Given the description of an element on the screen output the (x, y) to click on. 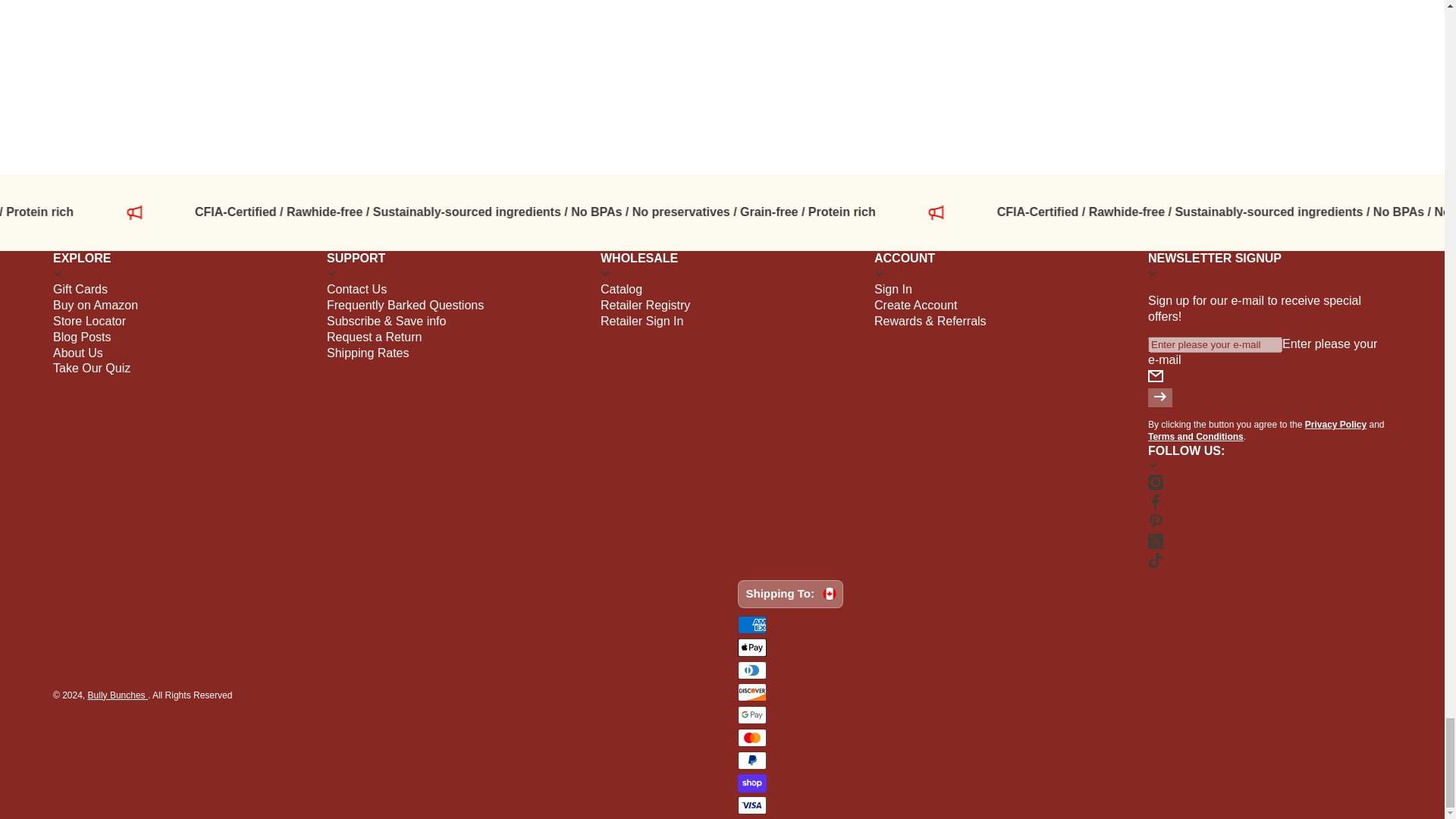
Diners Club (750, 669)
Google Pay (750, 714)
Apple Pay (750, 647)
American Express (750, 624)
Mastercard (750, 737)
Discover (750, 692)
